Given the description of an element on the screen output the (x, y) to click on. 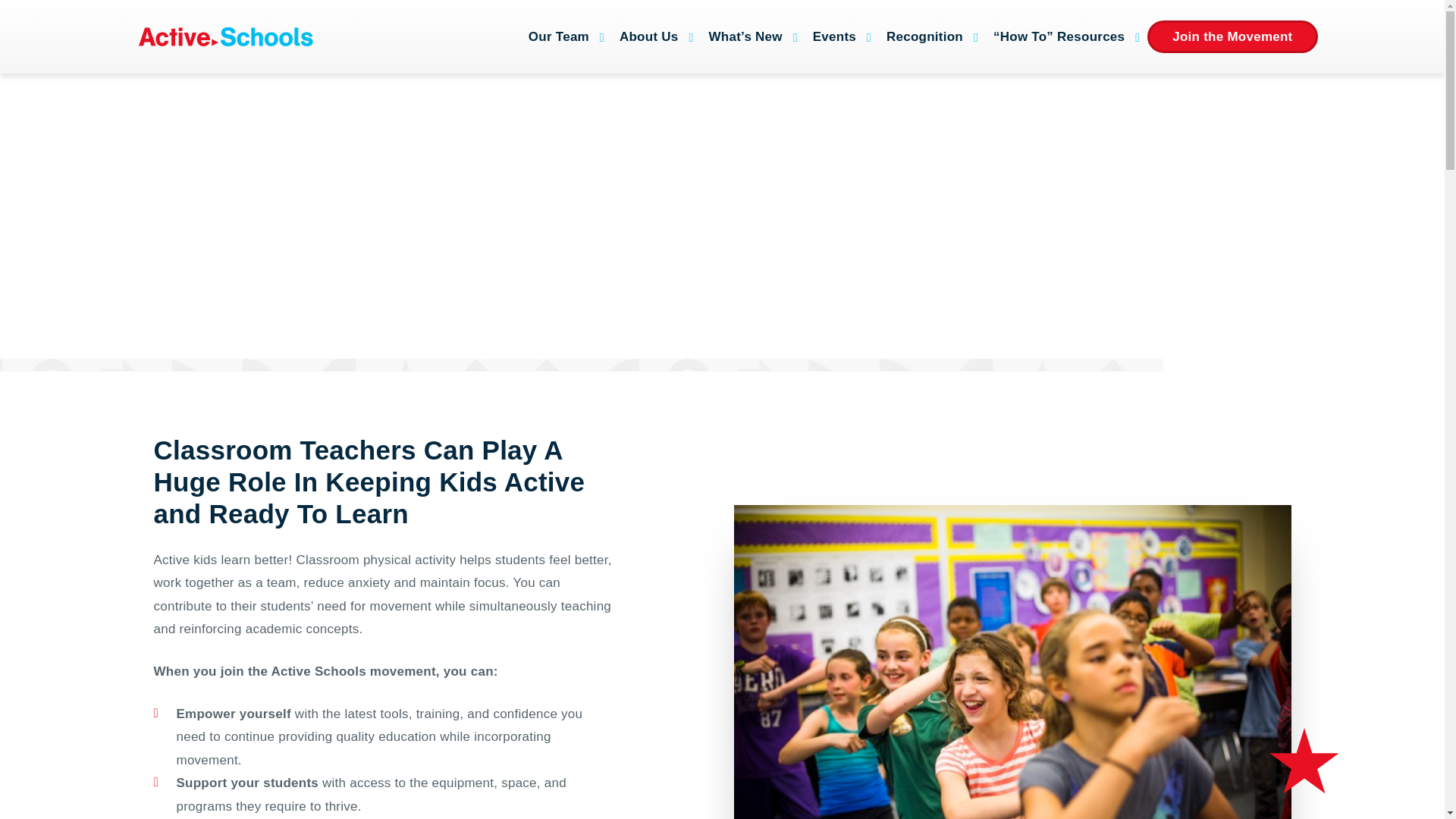
About Us (652, 36)
About Us (652, 36)
Recognition (928, 36)
Events (837, 36)
Our Team (562, 36)
Events (837, 36)
Our Team (562, 36)
Join the Movement (1232, 36)
